Given the description of an element on the screen output the (x, y) to click on. 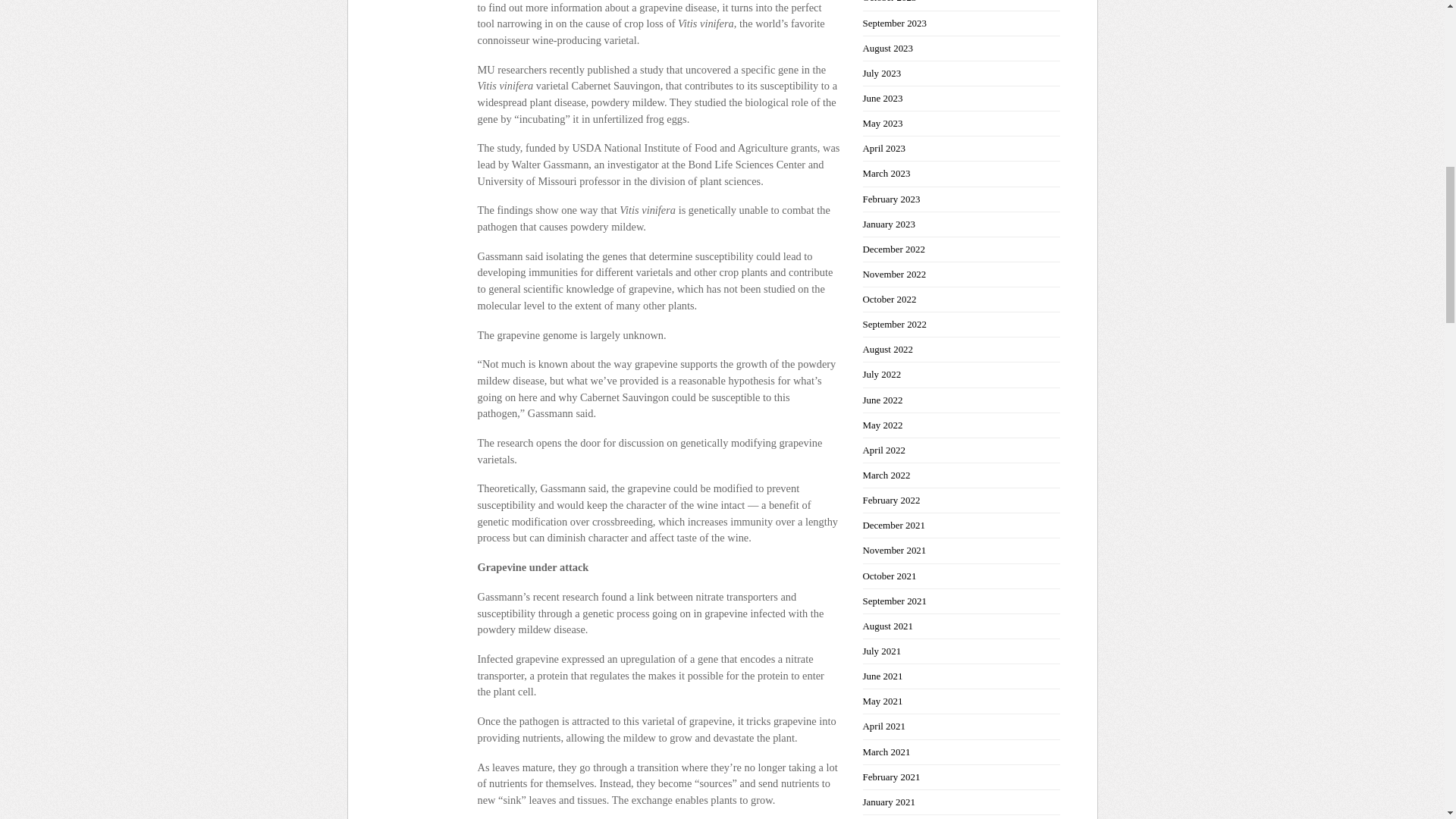
September 2023 (895, 22)
October 2023 (890, 1)
